Given the description of an element on the screen output the (x, y) to click on. 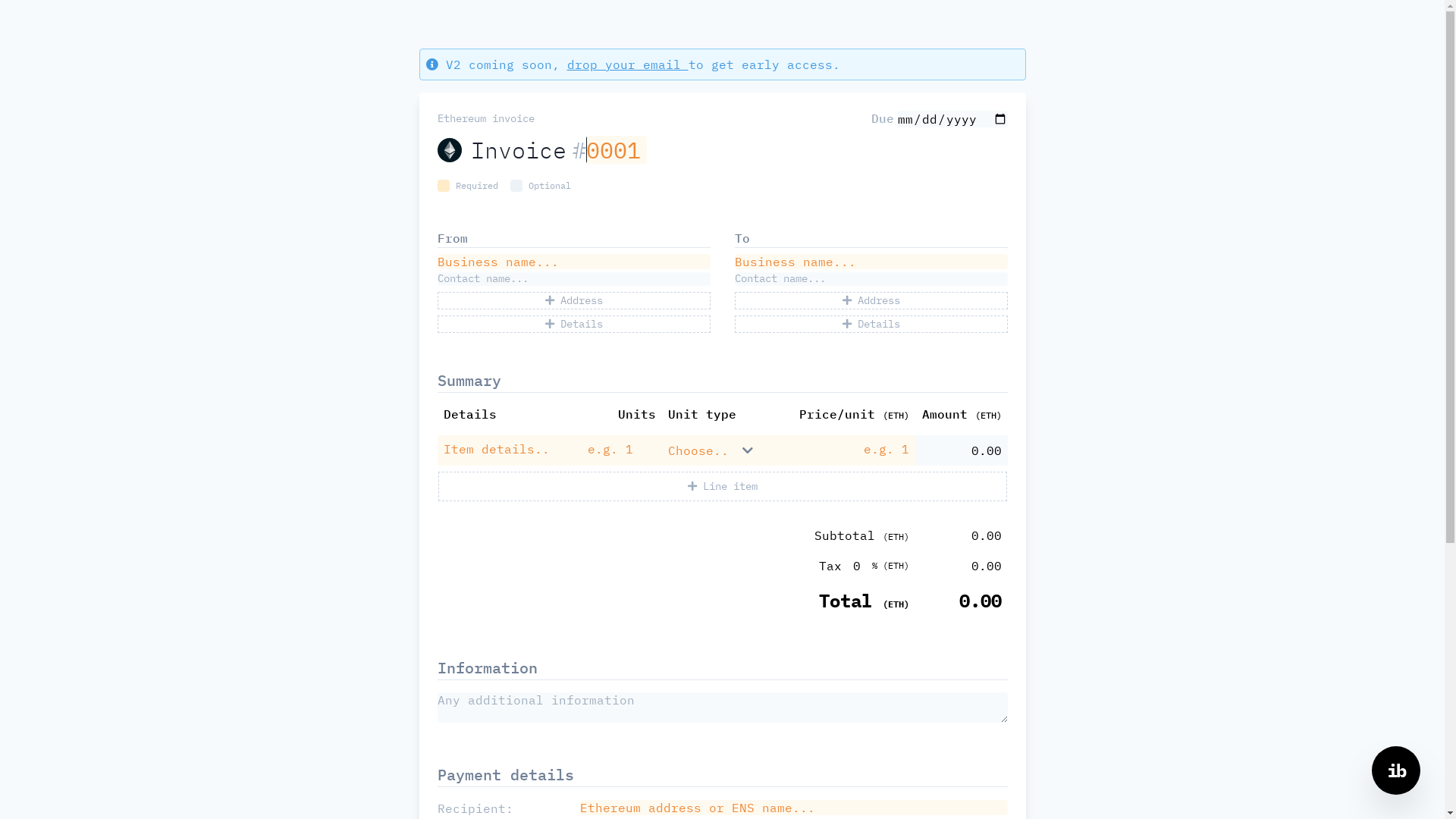
drop your email Element type: text (627, 64)
